Given the description of an element on the screen output the (x, y) to click on. 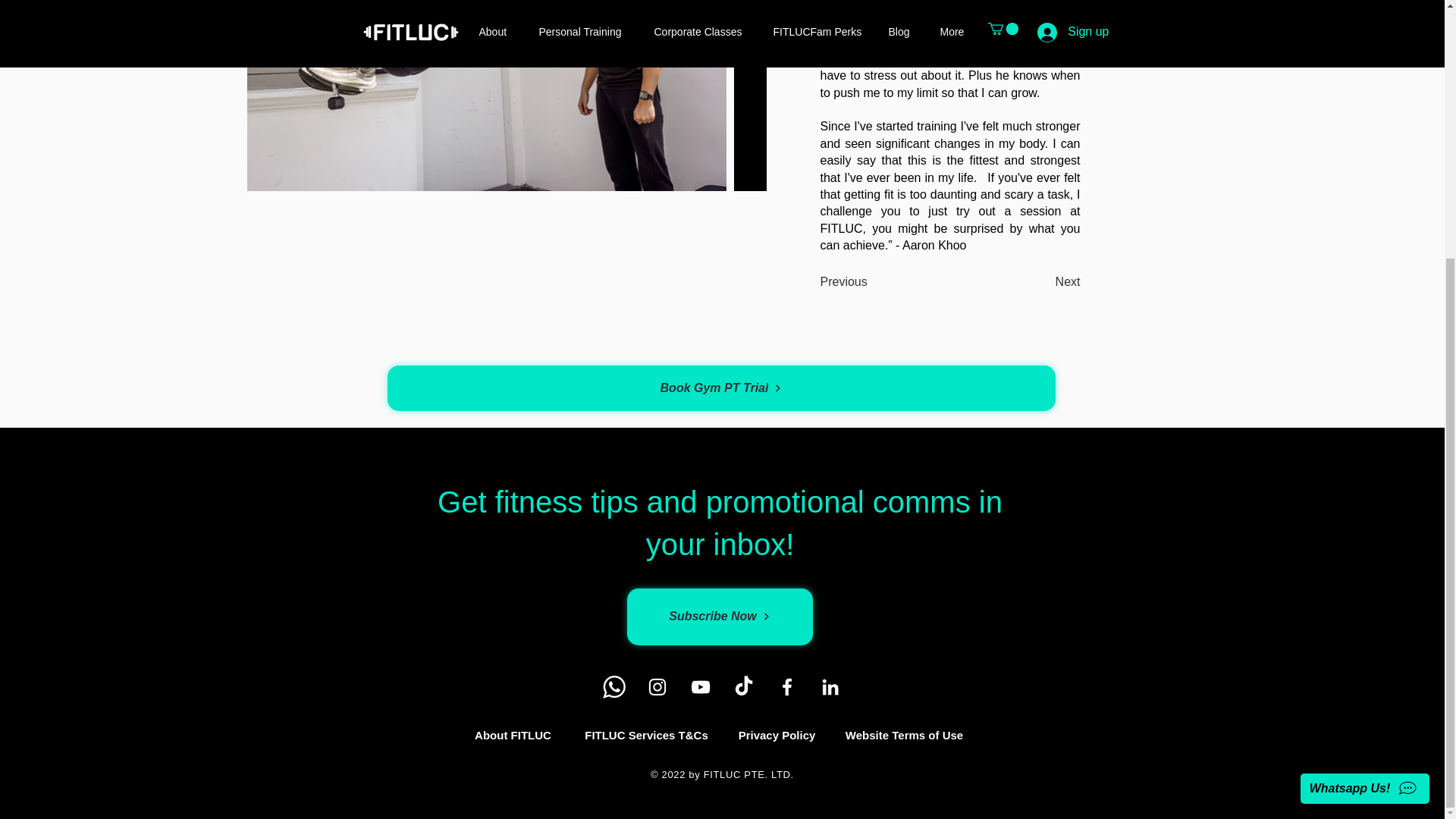
Privacy Policy (776, 735)
Book Gym PT Trial (720, 388)
About FITLUC (512, 735)
Website Terms of Use (903, 735)
Whatsapp Us! (1364, 419)
Previous (844, 282)
Subscribe Now (719, 616)
